Given the description of an element on the screen output the (x, y) to click on. 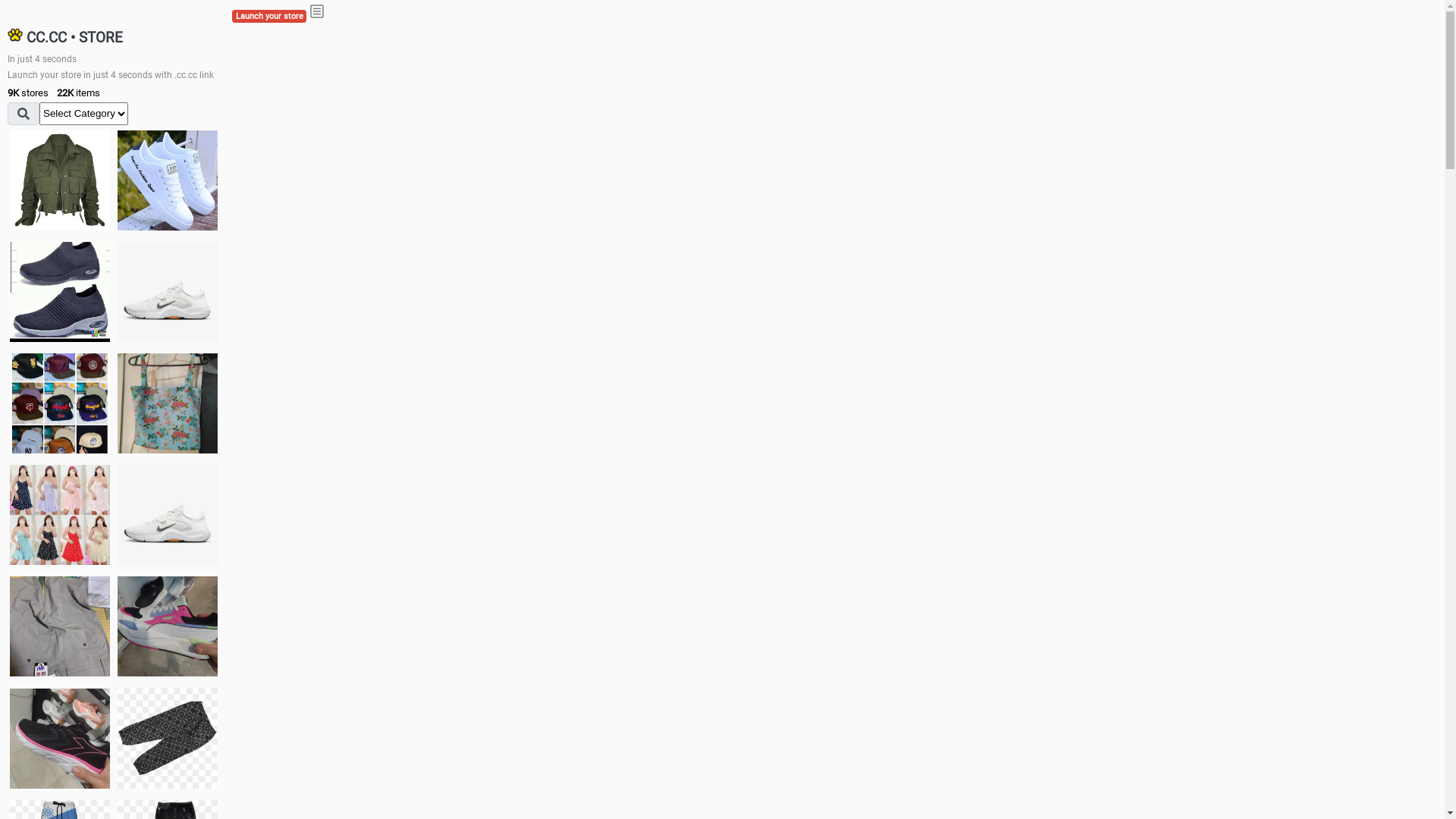
Ukay cloth Element type: hover (167, 403)
Shoes for boys Element type: hover (167, 291)
Shoes Element type: hover (167, 514)
Dress/square nect top Element type: hover (59, 514)
Zapatillas Element type: hover (59, 738)
Short pant Element type: hover (167, 737)
Launch your store Element type: text (269, 15)
white shoes Element type: hover (167, 180)
shoes for boys Element type: hover (59, 291)
Things we need Element type: hover (59, 403)
jacket Element type: hover (59, 180)
Zapatillas pumas Element type: hover (167, 626)
